Given the description of an element on the screen output the (x, y) to click on. 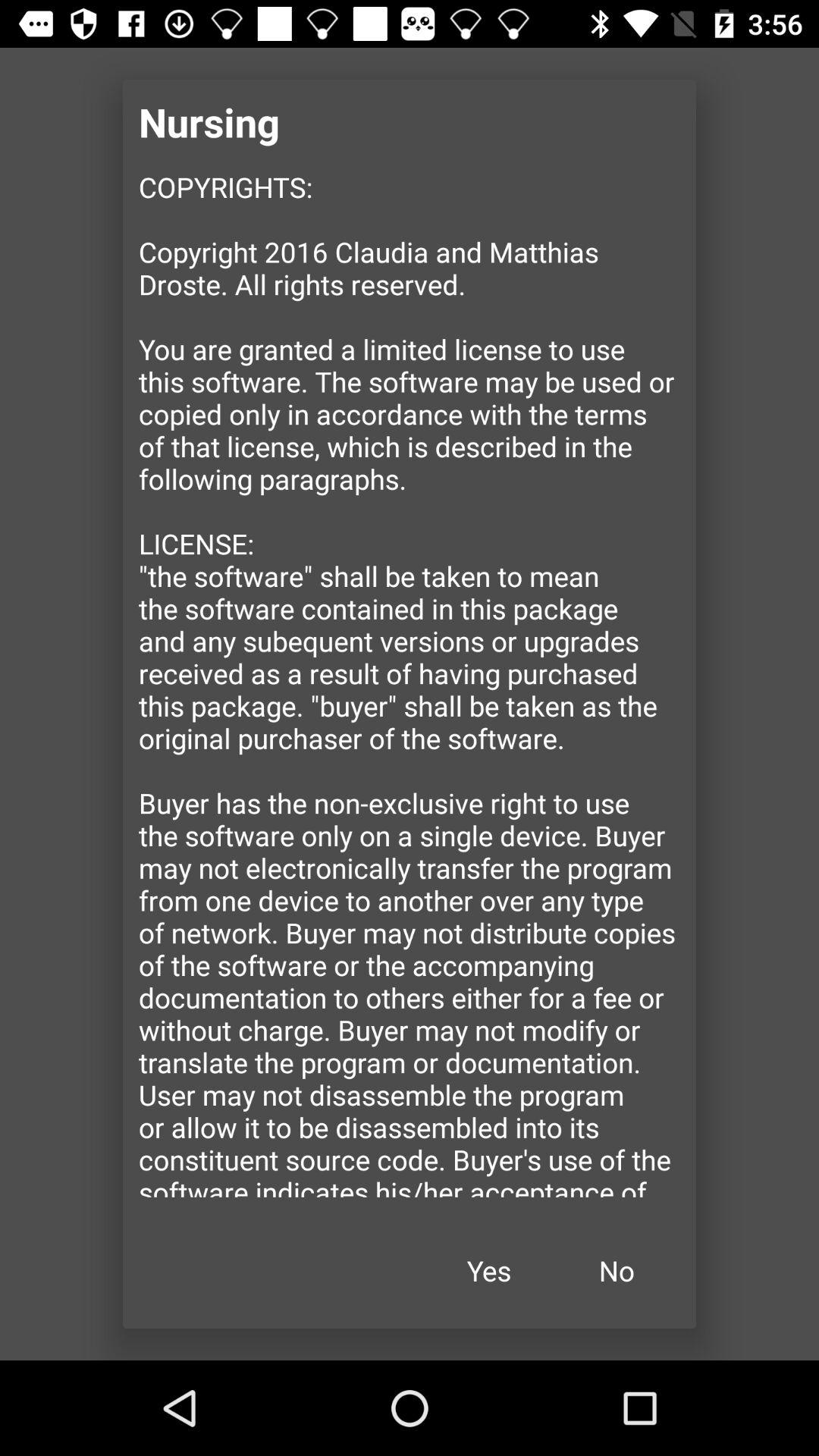
turn off the yes item (488, 1270)
